Given the description of an element on the screen output the (x, y) to click on. 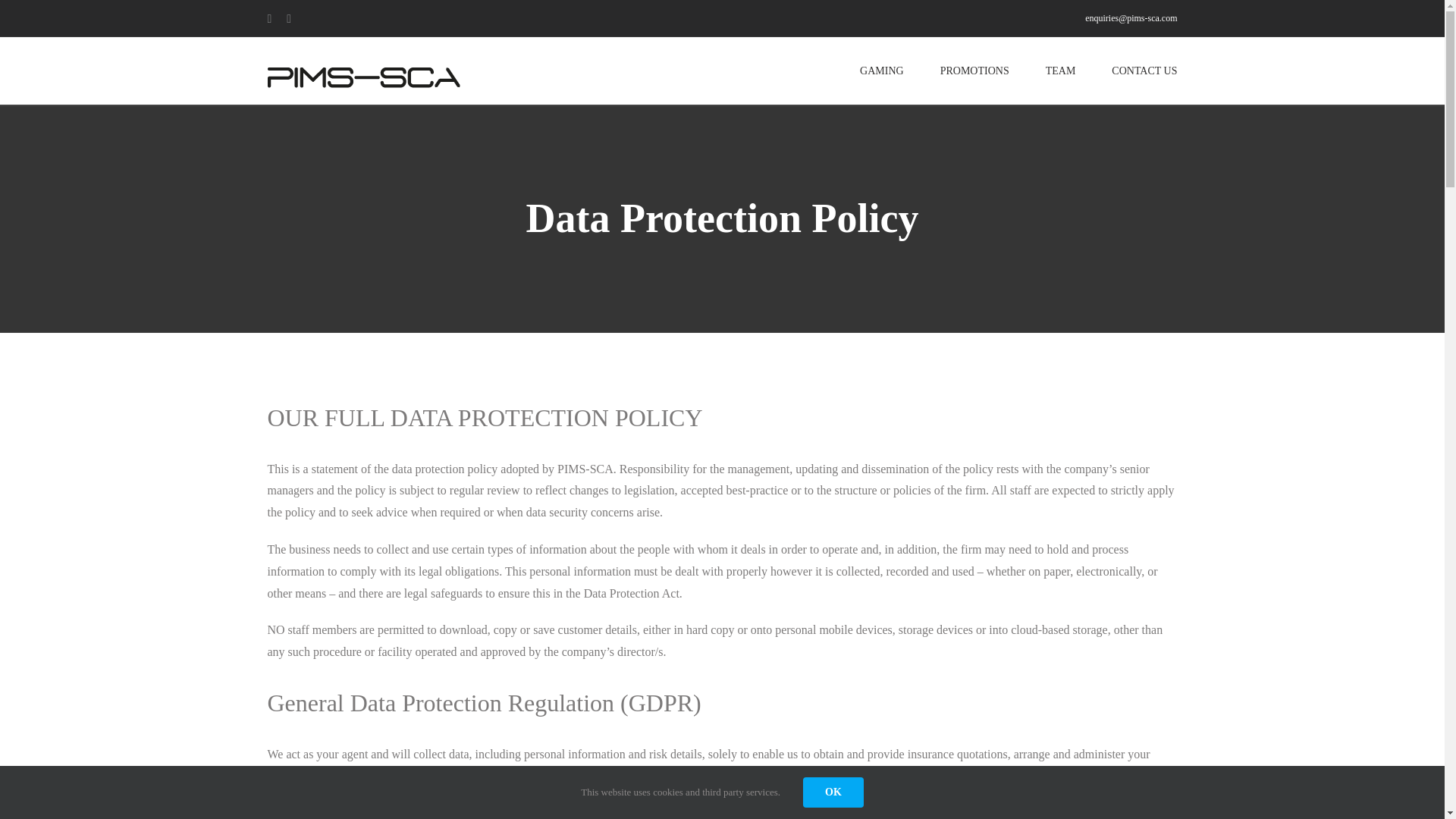
CONTACT US (1144, 70)
PROMOTIONS (974, 70)
OK (833, 792)
